Given the description of an element on the screen output the (x, y) to click on. 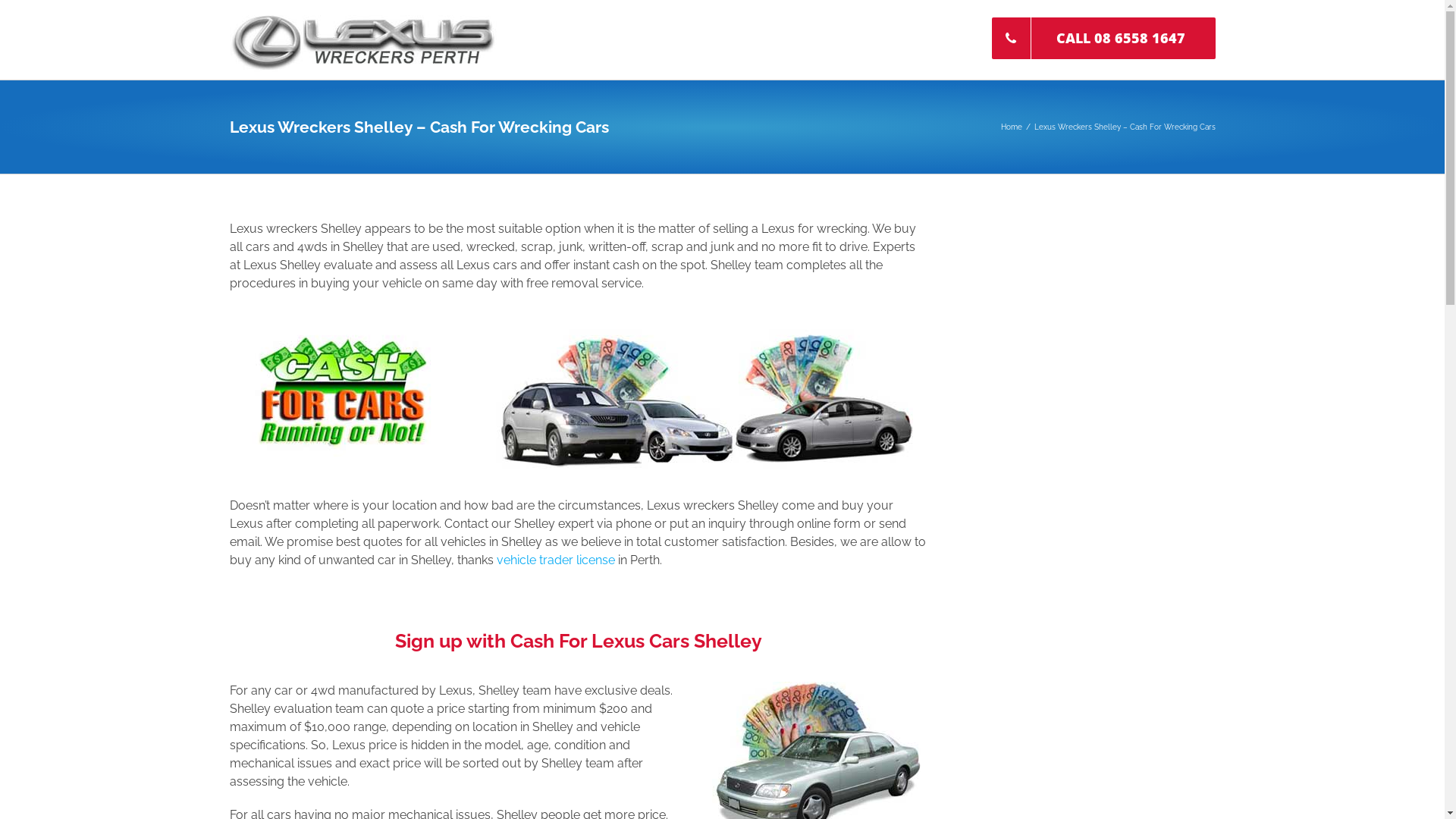
Lexus Car Wrecker Element type: hover (340, 392)
Home Element type: text (1011, 126)
vehicle trader license Element type: text (554, 559)
CALL 08 6558 1647 Element type: text (1103, 39)
Lexus Wrecker Element type: hover (704, 395)
